Given the description of an element on the screen output the (x, y) to click on. 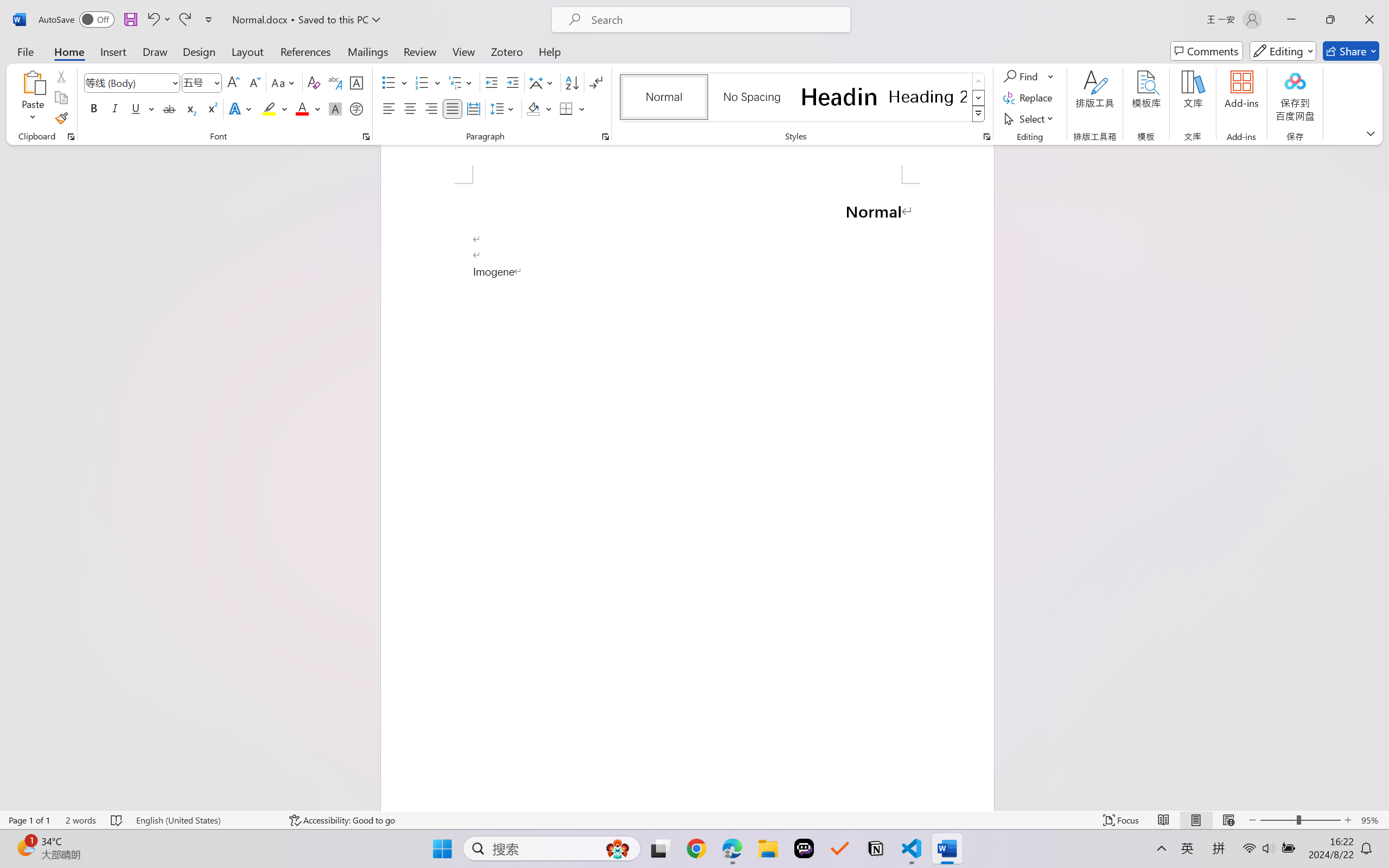
Class: MsoCommandBar (694, 819)
Redo Style (184, 19)
Shading (539, 108)
Help (549, 51)
Multilevel List (461, 82)
